Given the description of an element on the screen output the (x, y) to click on. 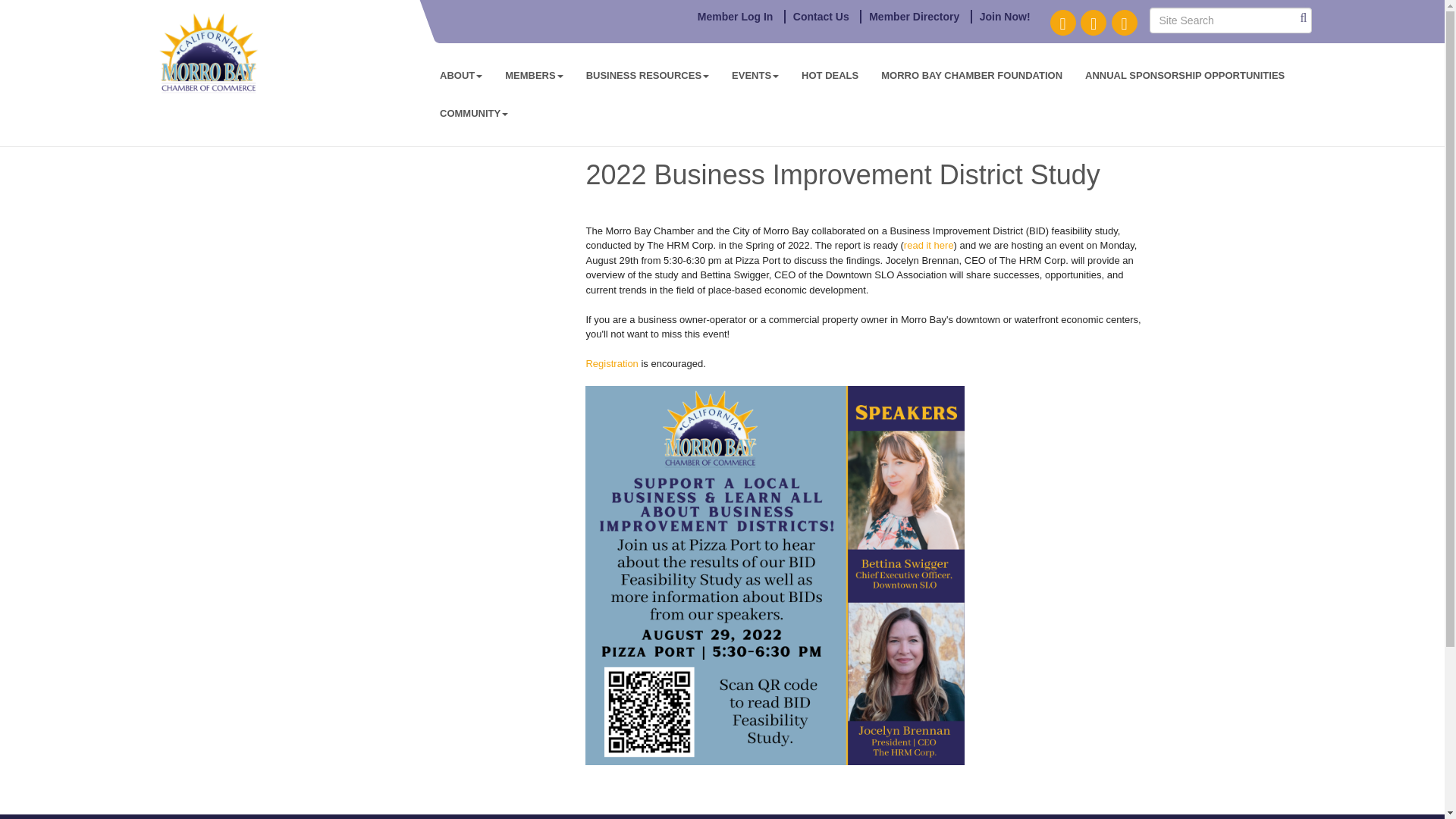
BUSINESS RESOURCES (647, 75)
Member Log In (735, 16)
MEMBERS (533, 75)
Member Directory (913, 16)
Instagram (1124, 22)
FaceBook (1062, 22)
Join Now! (1004, 16)
Site Search (1230, 20)
ABOUT (460, 75)
Linkedin (1093, 22)
Contact Us (821, 16)
